Given the description of an element on the screen output the (x, y) to click on. 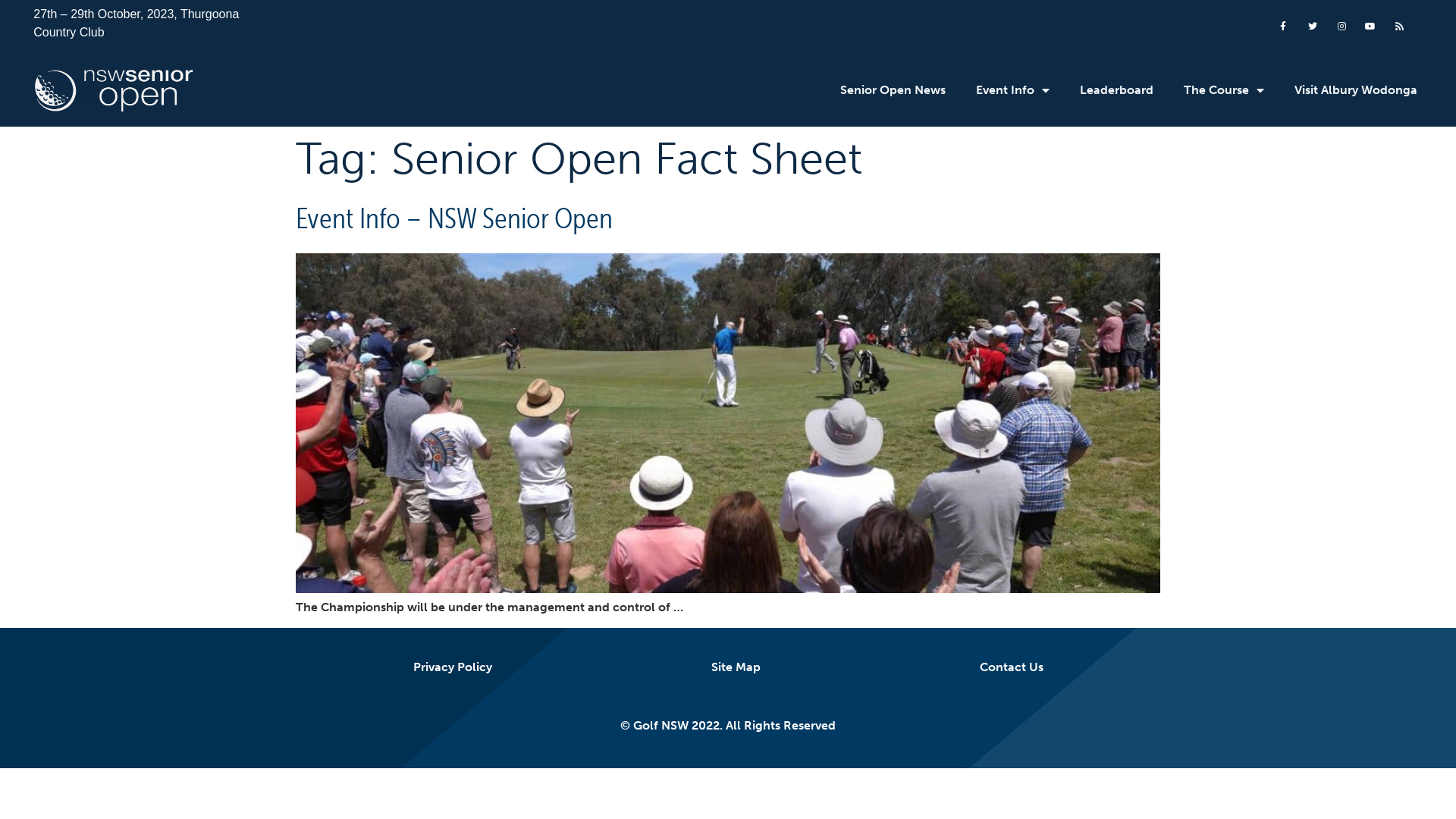
Event Info Element type: text (1012, 89)
Leaderboard Element type: text (1116, 89)
The Course Element type: text (1223, 89)
Privacy Policy Element type: text (452, 666)
Site Map Element type: text (735, 666)
Visit Albury Wodonga Element type: text (1355, 89)
Contact Us Element type: text (1010, 666)
Senior Open News Element type: text (892, 89)
